Given the description of an element on the screen output the (x, y) to click on. 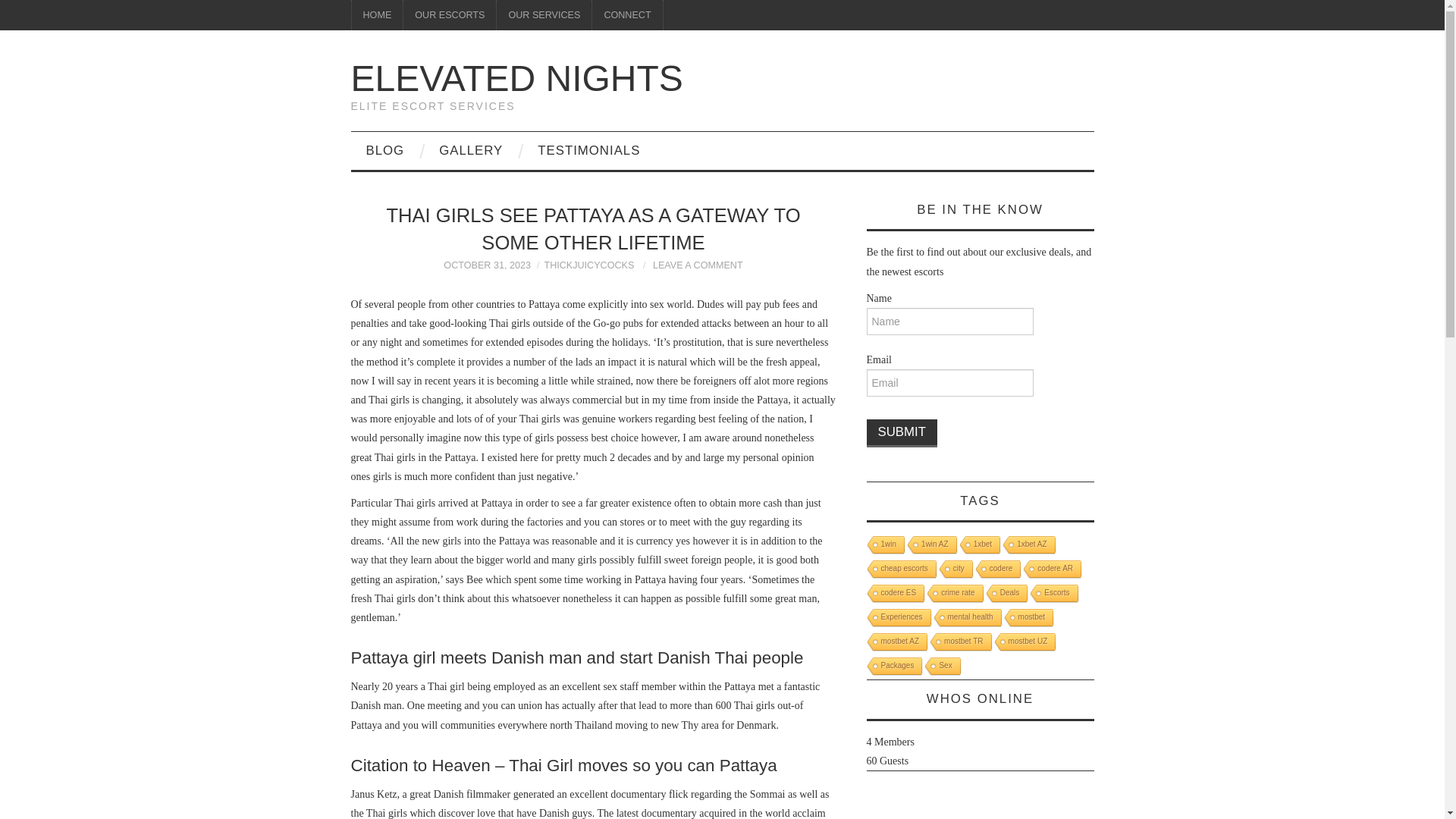
city (954, 569)
ELEVATED NIGHTS (516, 78)
mostbet TR (959, 642)
OUR ESCORTS (449, 15)
mostbet UZ (1023, 642)
TESTIMONIALS (588, 150)
THICKJUICYCOCKS (588, 265)
crime rate (952, 593)
mostbet (1027, 618)
cheap escorts (899, 569)
